Given the description of an element on the screen output the (x, y) to click on. 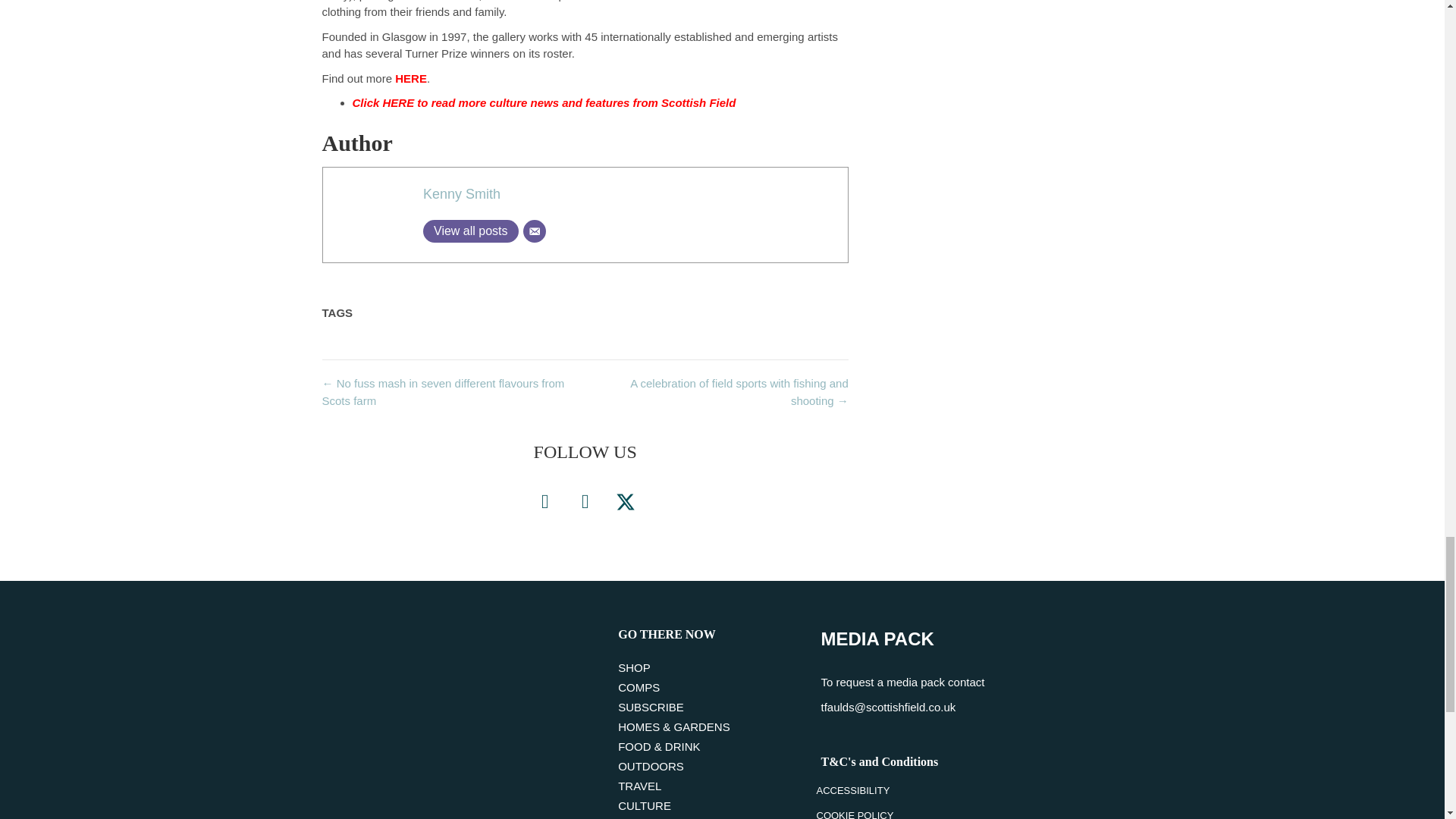
Instagram (584, 502)
View all posts (470, 231)
Kenny Smith (461, 193)
Facebook (544, 502)
